Given the description of an element on the screen output the (x, y) to click on. 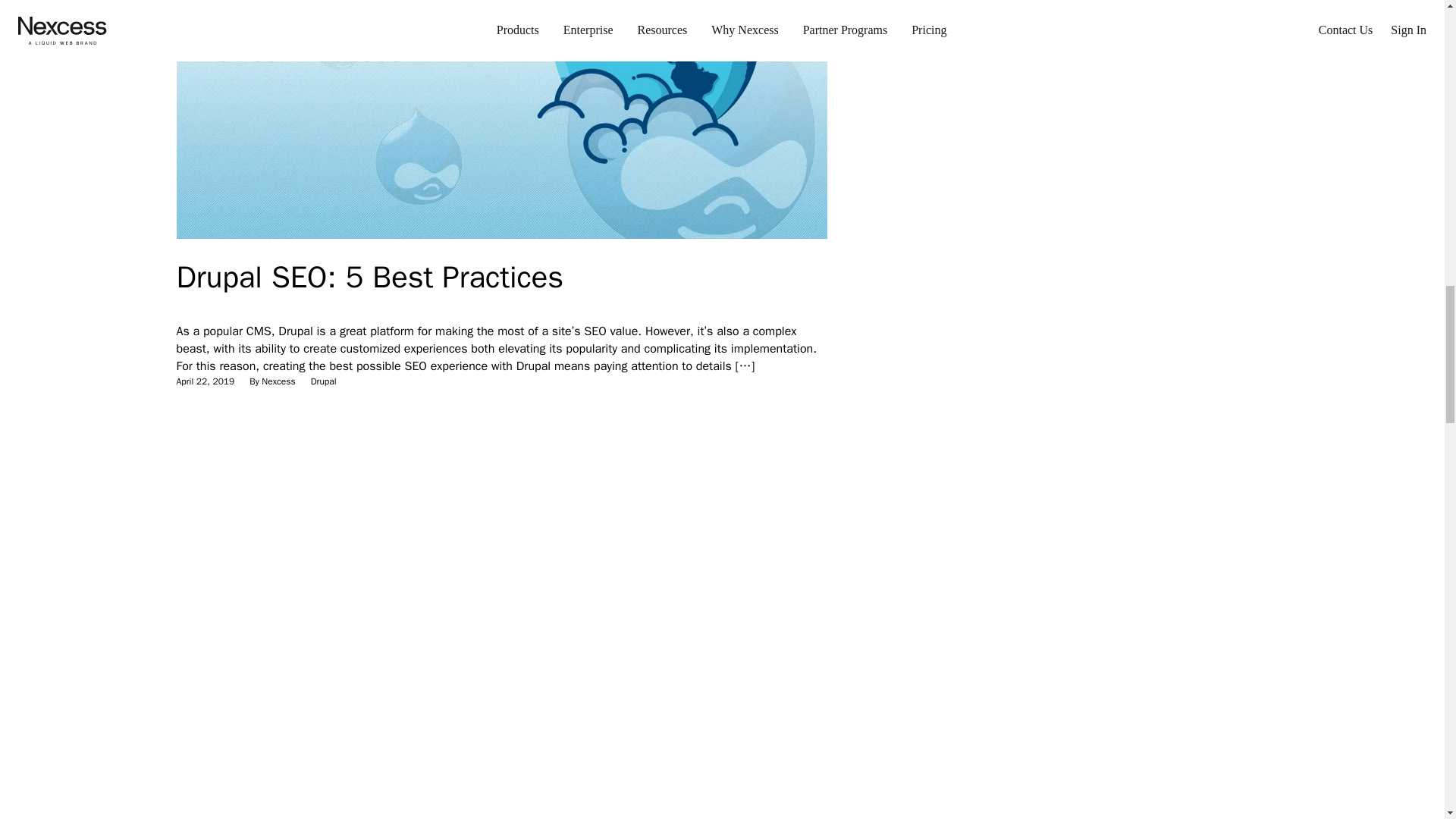
Drupal (323, 381)
Nexcess (278, 381)
Drupal SEO: 5 Best Practices (369, 276)
